Given the description of an element on the screen output the (x, y) to click on. 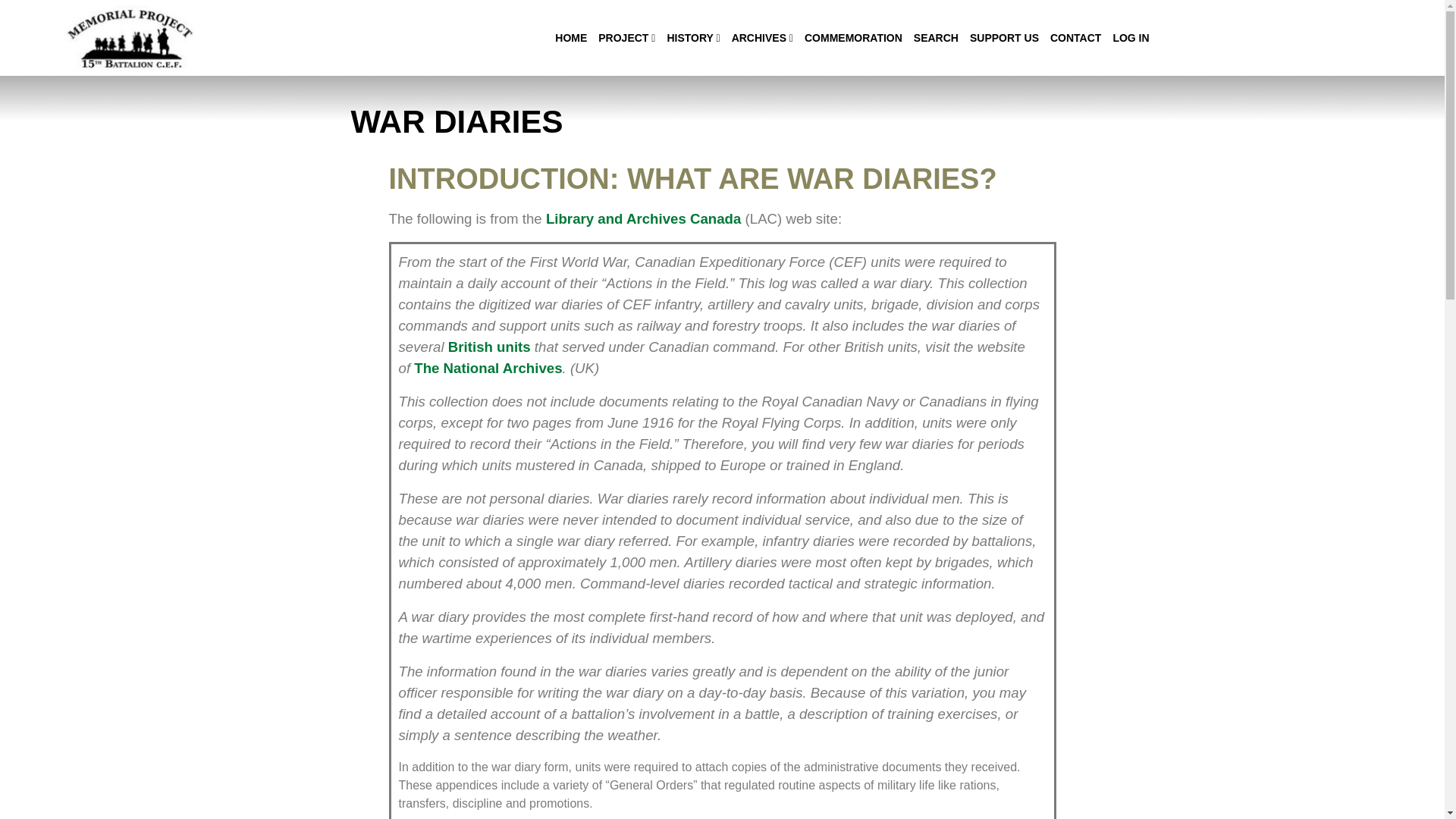
SUPPORT US (1004, 37)
ARCHIVES (762, 37)
SEARCH (935, 37)
HOME (570, 37)
PROJECT (626, 37)
CONTACT (1074, 37)
HISTORY (692, 37)
LOG IN (1130, 37)
COMMEMORATION (853, 37)
